Given the description of an element on the screen output the (x, y) to click on. 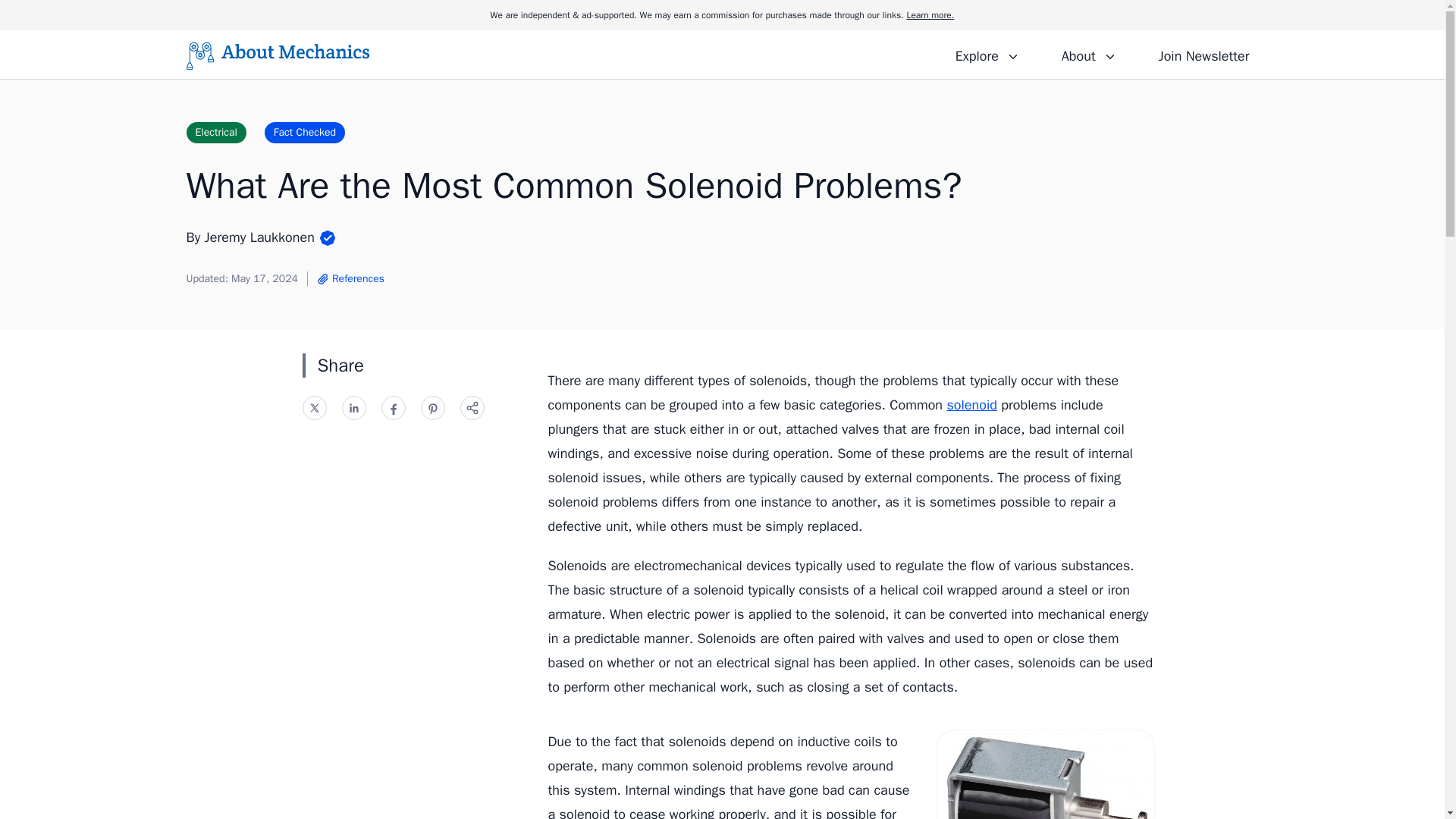
References (350, 278)
Join Newsletter (1202, 54)
About (1088, 54)
Explore (986, 54)
Electrical (216, 132)
Learn more. (929, 15)
solenoid (970, 404)
Fact Checked (304, 132)
